Given the description of an element on the screen output the (x, y) to click on. 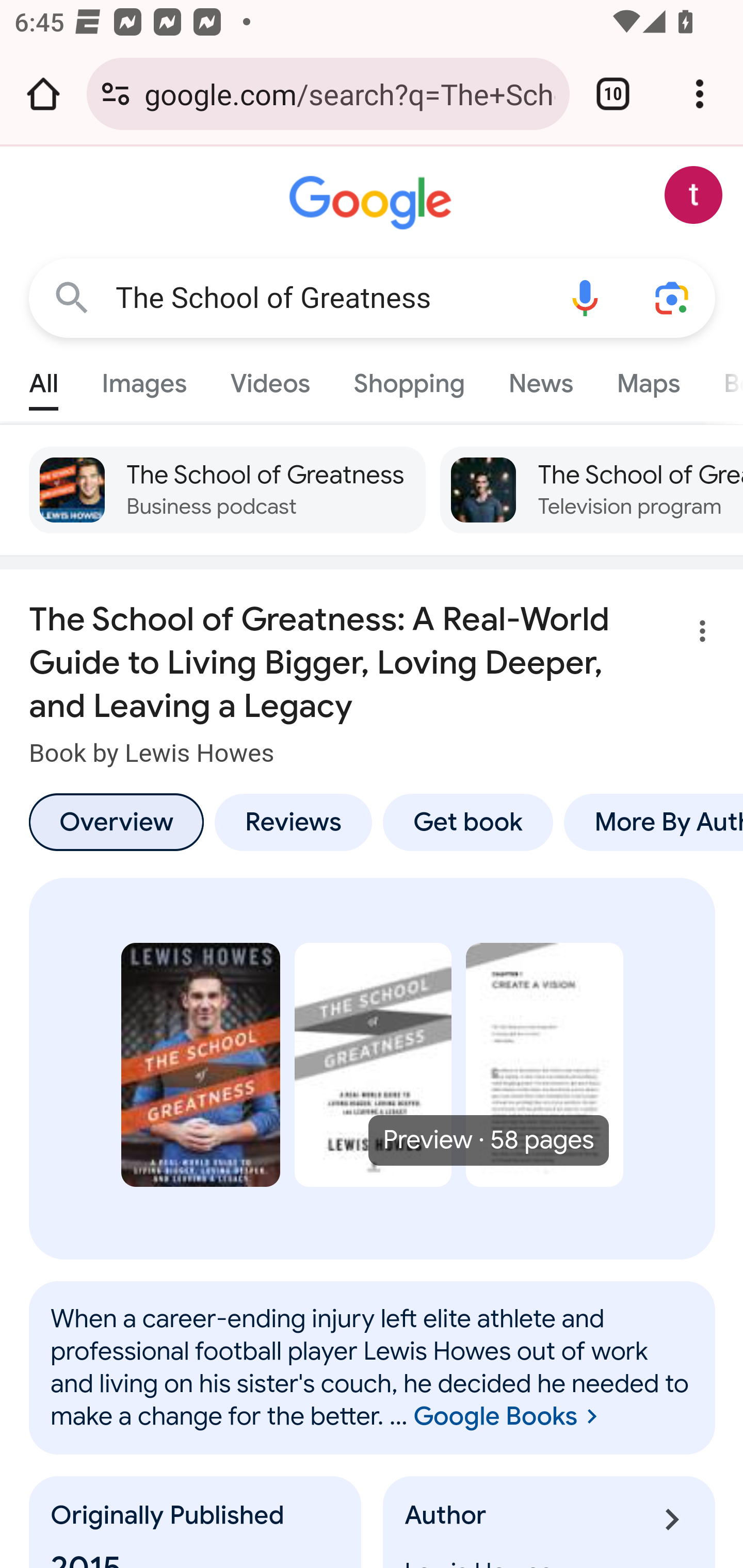
Open the home page (43, 93)
Connection is secure (115, 93)
Switch or close tabs (612, 93)
Customize and control Google Chrome (699, 93)
Google (372, 203)
Google Search (71, 296)
Search using your camera or photos (672, 296)
The School of Greatness (328, 297)
Images (144, 378)
Videos (270, 378)
Shopping (408, 378)
News (540, 378)
Maps (647, 378)
More options (690, 634)
Overview (116, 822)
Reviews (292, 822)
Get book (467, 822)
More By Author (650, 822)
Book page preview 1 of 3. Click to open preview. (199, 1065)
Book page preview 2 of 3. Click to open preview. (372, 1065)
Book page preview 3 of 3. Click to open preview. (544, 1065)
The_School_of_Greatness (372, 1367)
